Given the description of an element on the screen output the (x, y) to click on. 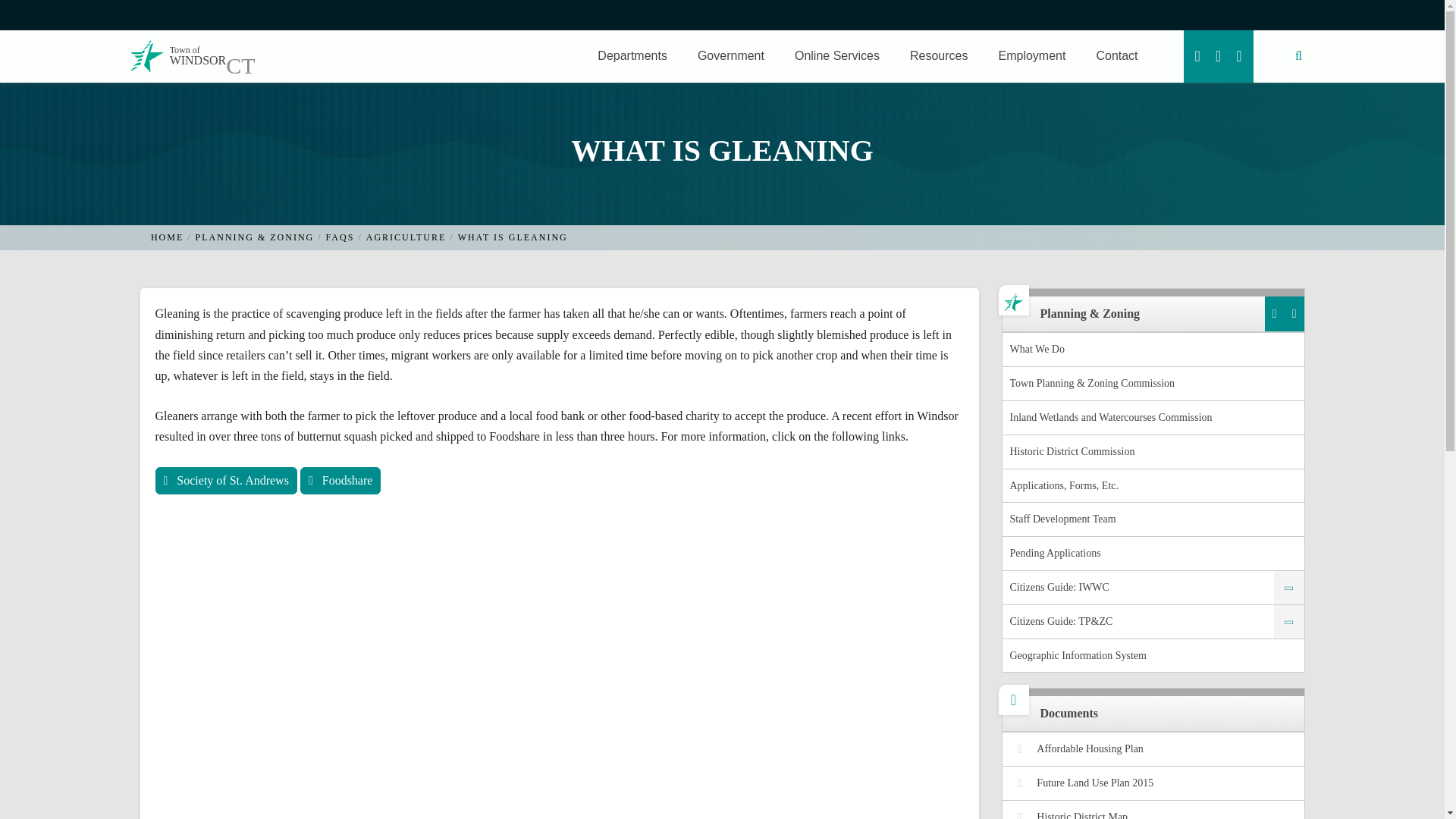
Go to Agriculture (406, 236)
Go to townofwindsorct.com (167, 236)
Go to Faqs (340, 236)
Go to What is gleaning (512, 236)
Government (178, 56)
Departments (730, 56)
